Given the description of an element on the screen output the (x, y) to click on. 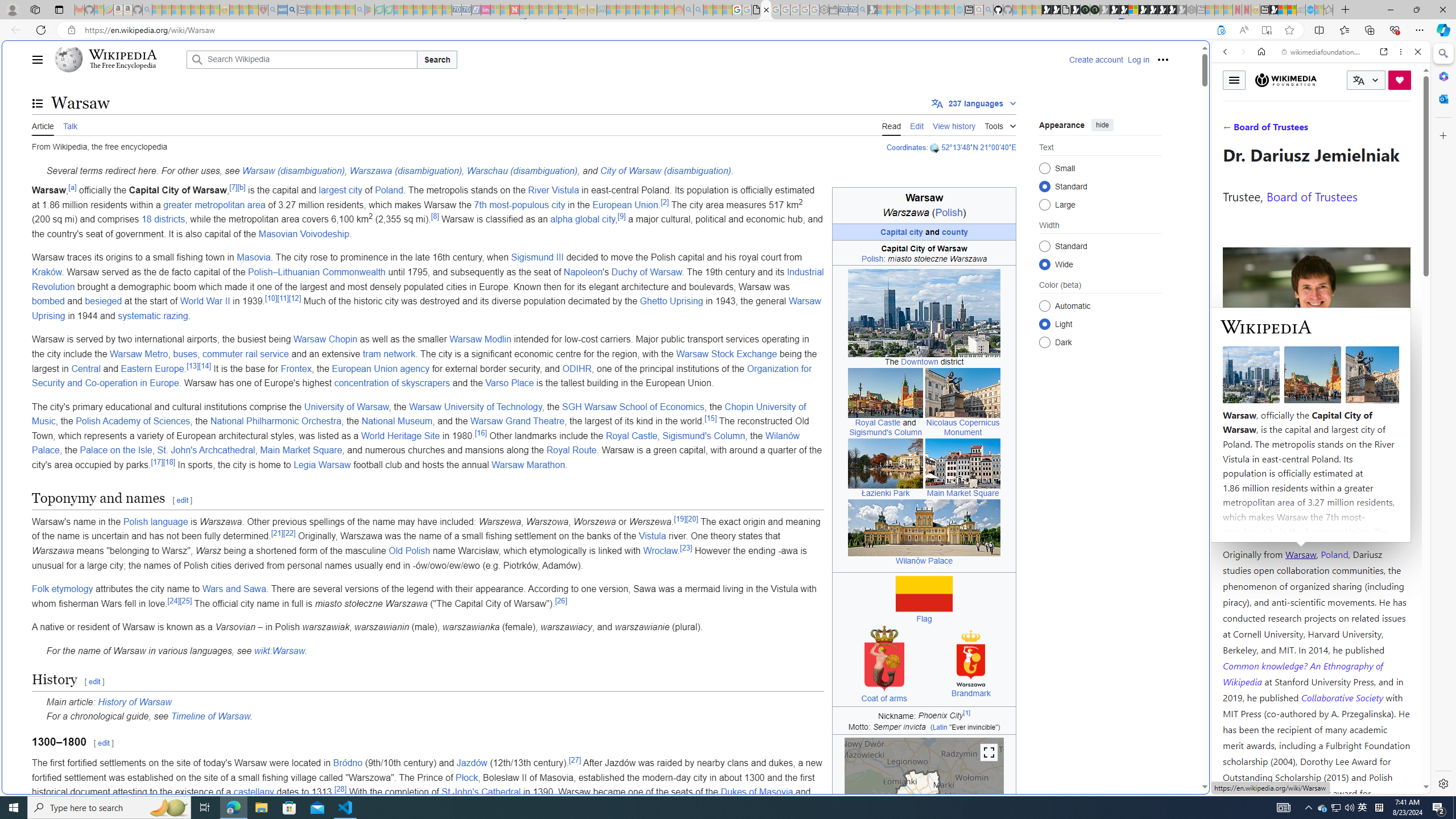
European Union (625, 204)
Royal Route (571, 450)
Downtown (920, 361)
Sigismund's Column (703, 435)
Large (1044, 204)
Capital city (901, 231)
Search Wikipedia (301, 59)
Wars and Sawa (234, 588)
Brandmark (970, 693)
SGH Warsaw School of Economics (633, 406)
